Given the description of an element on the screen output the (x, y) to click on. 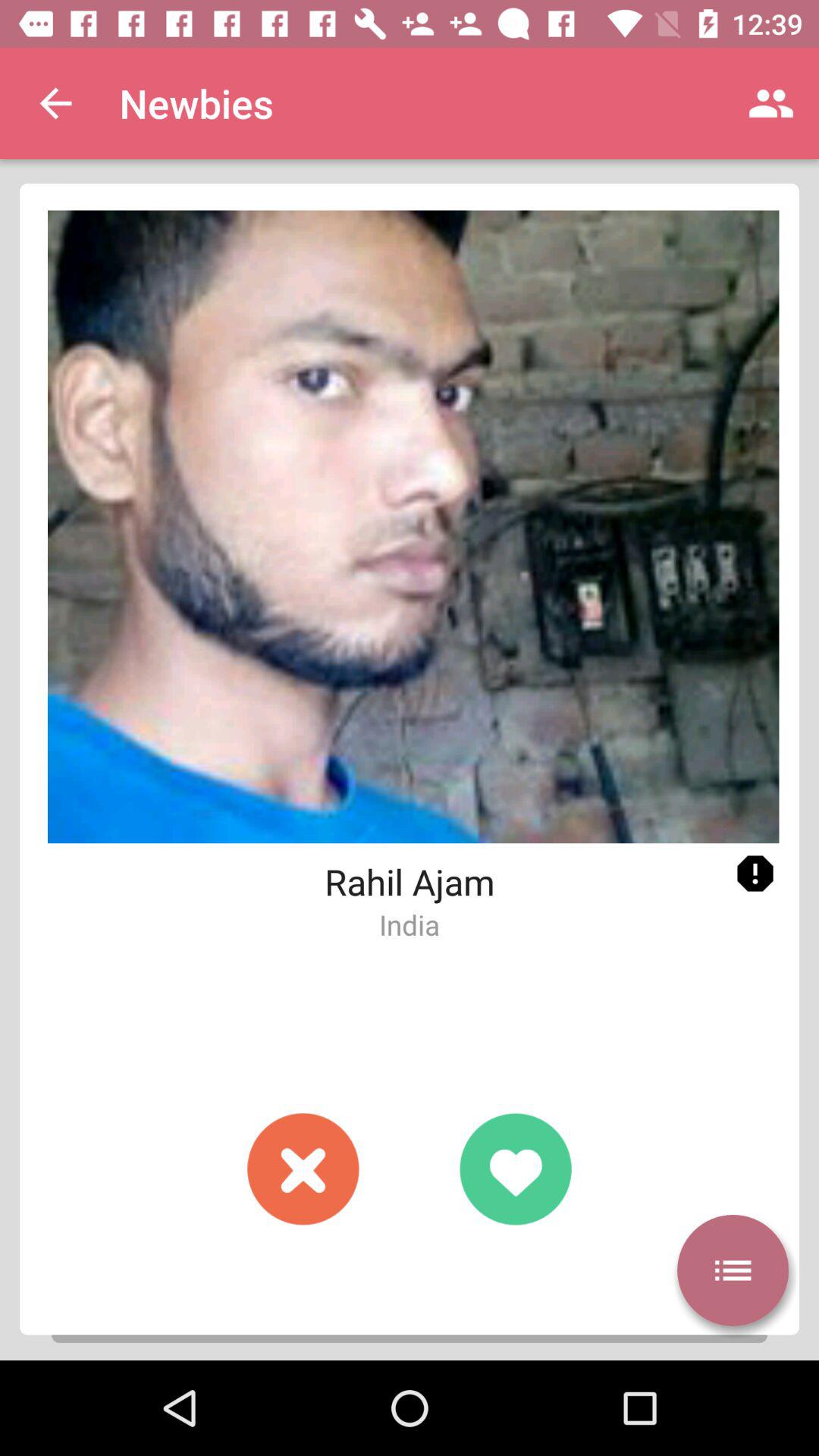
click exclamation mark (755, 873)
